Given the description of an element on the screen output the (x, y) to click on. 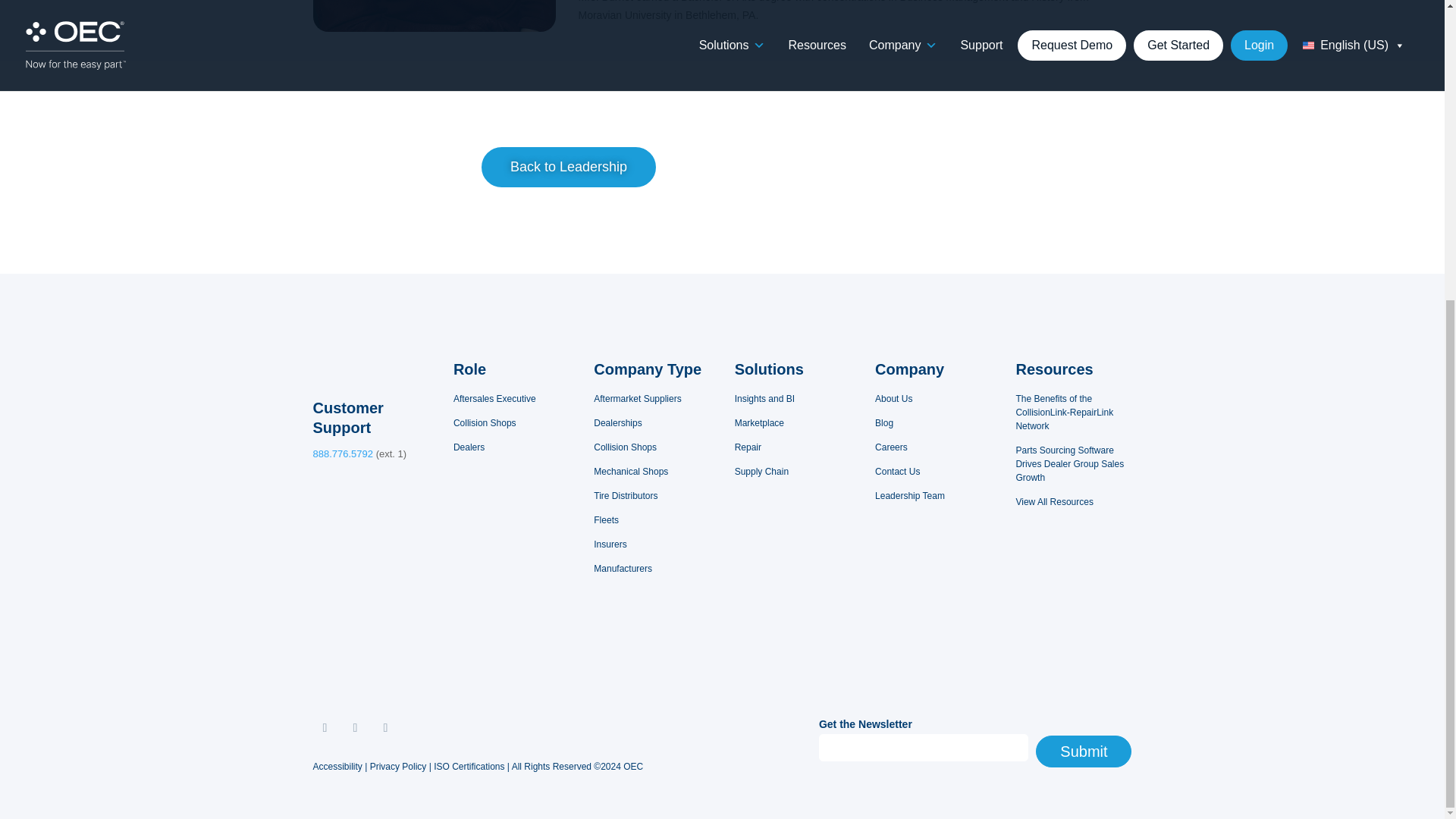
Follow on Facebook (384, 727)
tel:1.888.776.5792 (342, 453)
Submit (1083, 751)
Follow on LinkedIn (354, 727)
Follow on Youtube (324, 727)
